Given the description of an element on the screen output the (x, y) to click on. 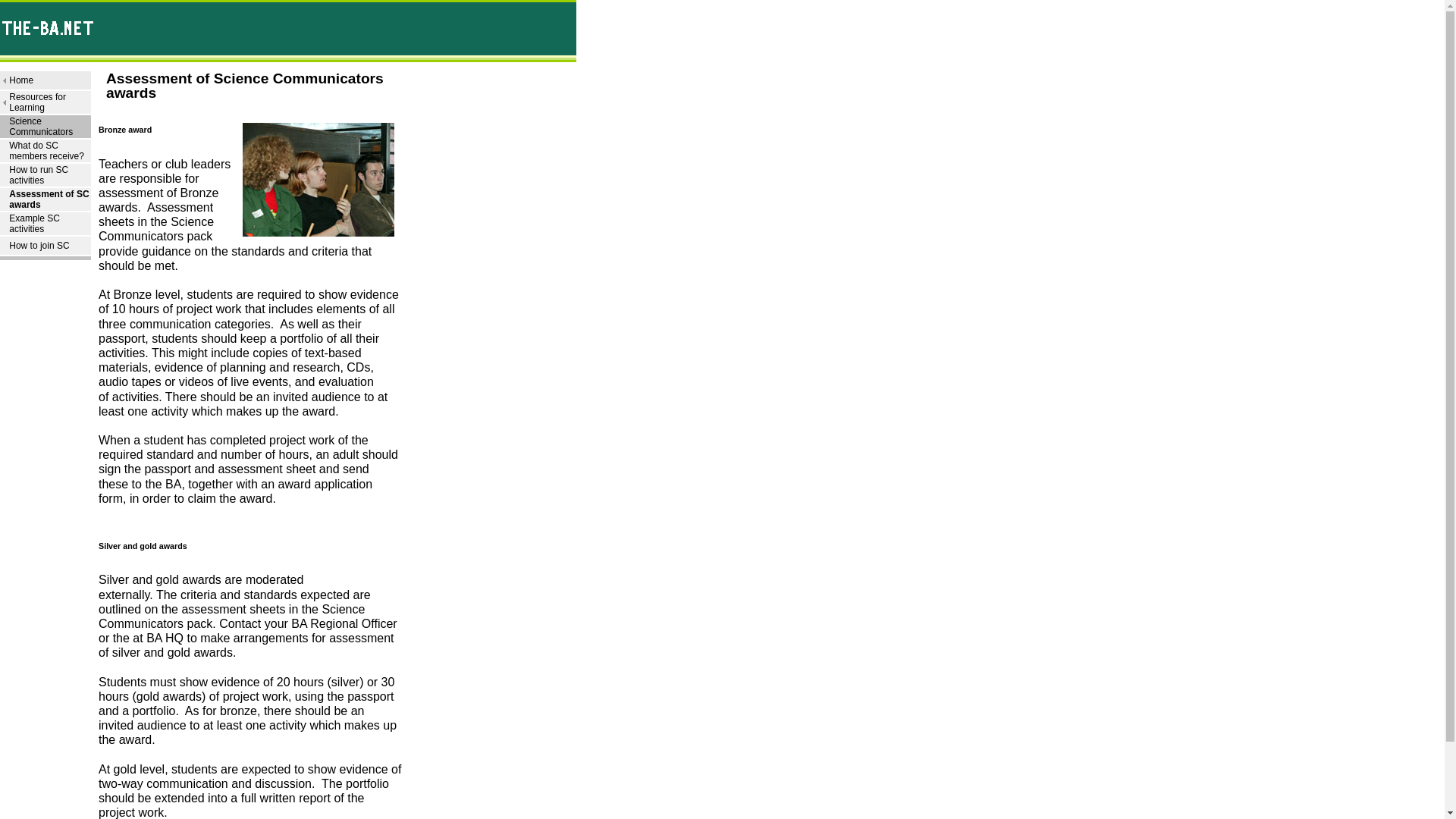
home (20, 80)
Resources for Learning (36, 102)
How to run SC activities (38, 174)
Resources for Learning (36, 102)
Example SC activities (33, 223)
Example SC activities (33, 223)
Science Communicators (40, 126)
What do SC members receive? (46, 150)
How to join SC (38, 245)
How to run SC activities (38, 174)
What do SC members receive? (46, 150)
Home (20, 80)
How to join SC (38, 245)
Science Communicators (40, 126)
